Given the description of an element on the screen output the (x, y) to click on. 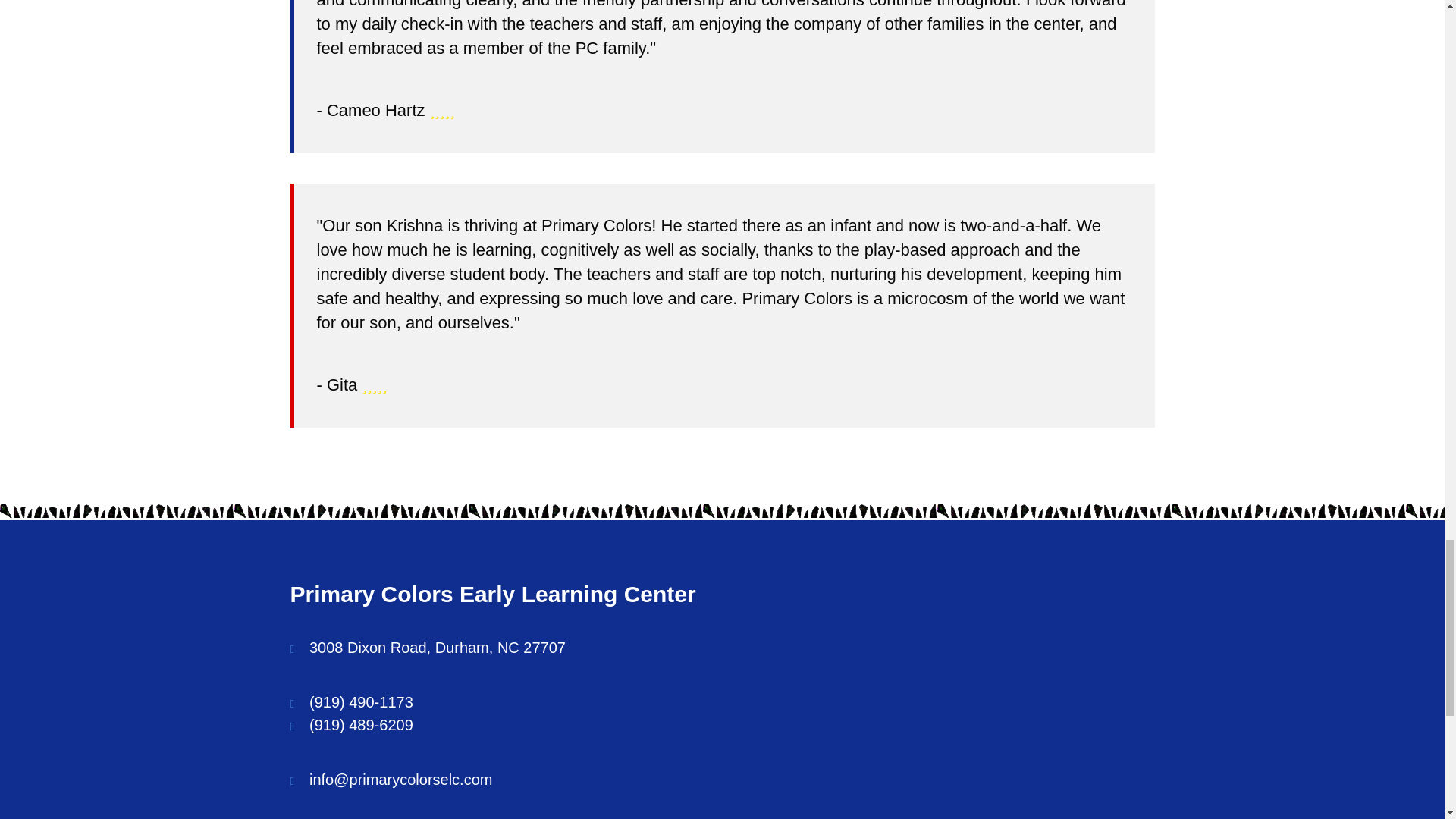
fax (360, 724)
3008 Dixon Road, Durham, NC 27707 (437, 647)
phone (360, 701)
map (437, 647)
email (400, 779)
